Given the description of an element on the screen output the (x, y) to click on. 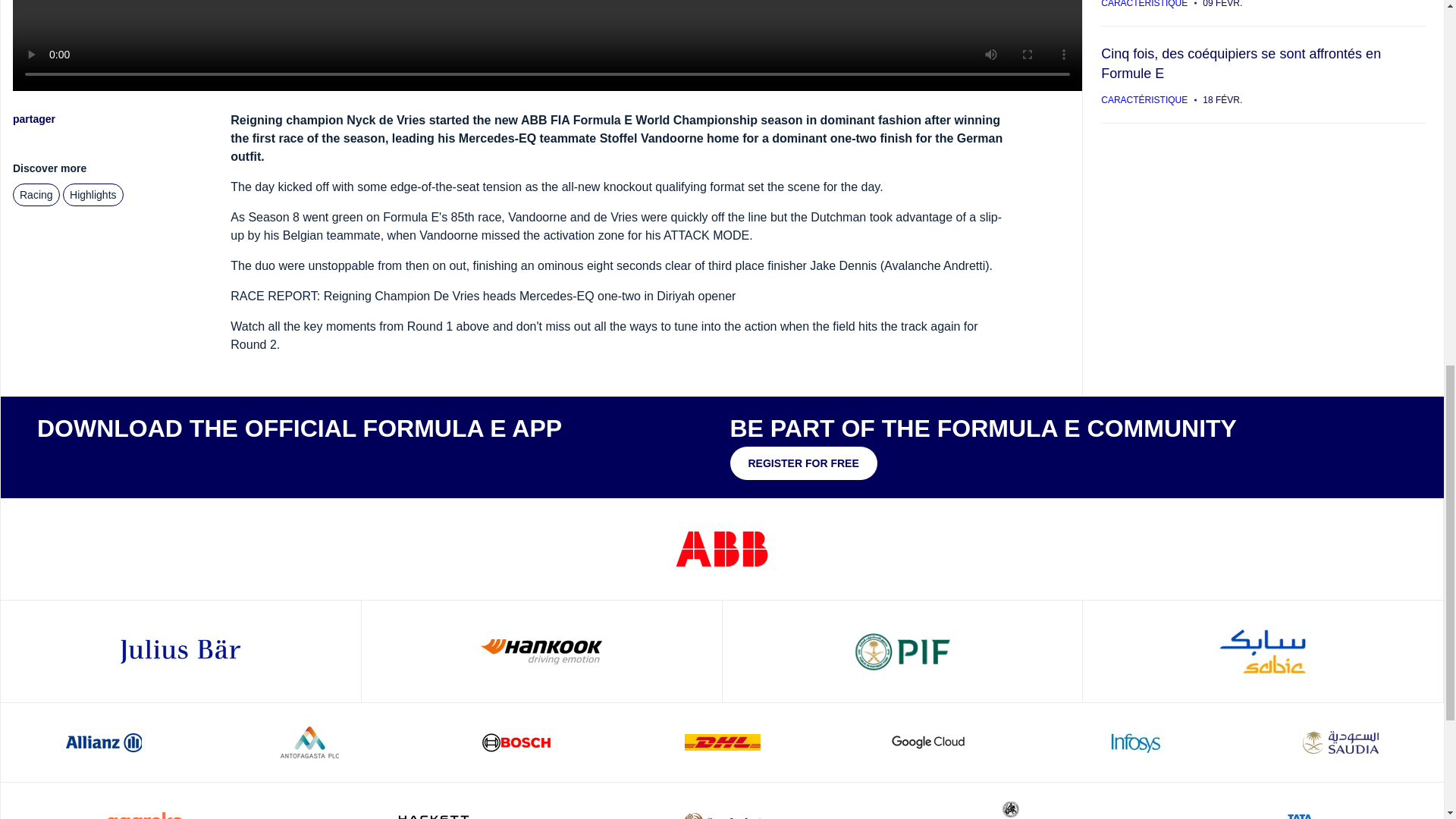
label.discover.search racing (36, 194)
Register for free (802, 462)
label.promo.google.link (175, 460)
Public Investment Fund (902, 651)
Partenaire-titre (721, 548)
Partenaire mondial (180, 651)
label.discover.search highlights (92, 194)
label.promo.apple.link (81, 460)
Partenaire technique (541, 651)
